Given the description of an element on the screen output the (x, y) to click on. 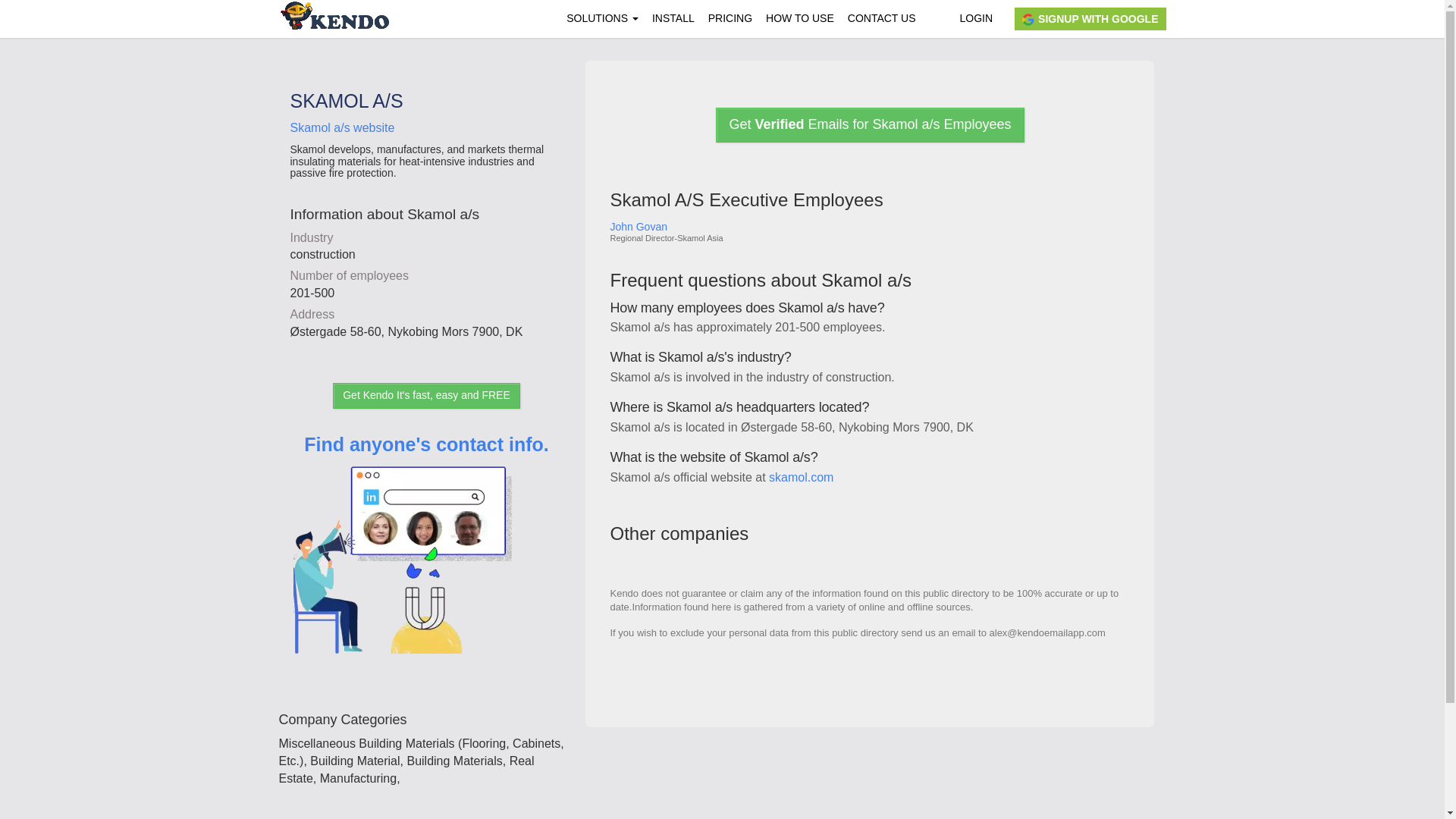
INSTALL (673, 18)
CONTACT US (882, 18)
skamol.com (800, 477)
Get Kendo It's fast, easy and FREE (426, 395)
LOGIN (975, 18)
Find anyone's contact info. (425, 565)
HOW TO USE (799, 18)
PRICING (729, 18)
SOLUTIONS (602, 18)
SIGNUP WITH GOOGLE (1090, 18)
